Given the description of an element on the screen output the (x, y) to click on. 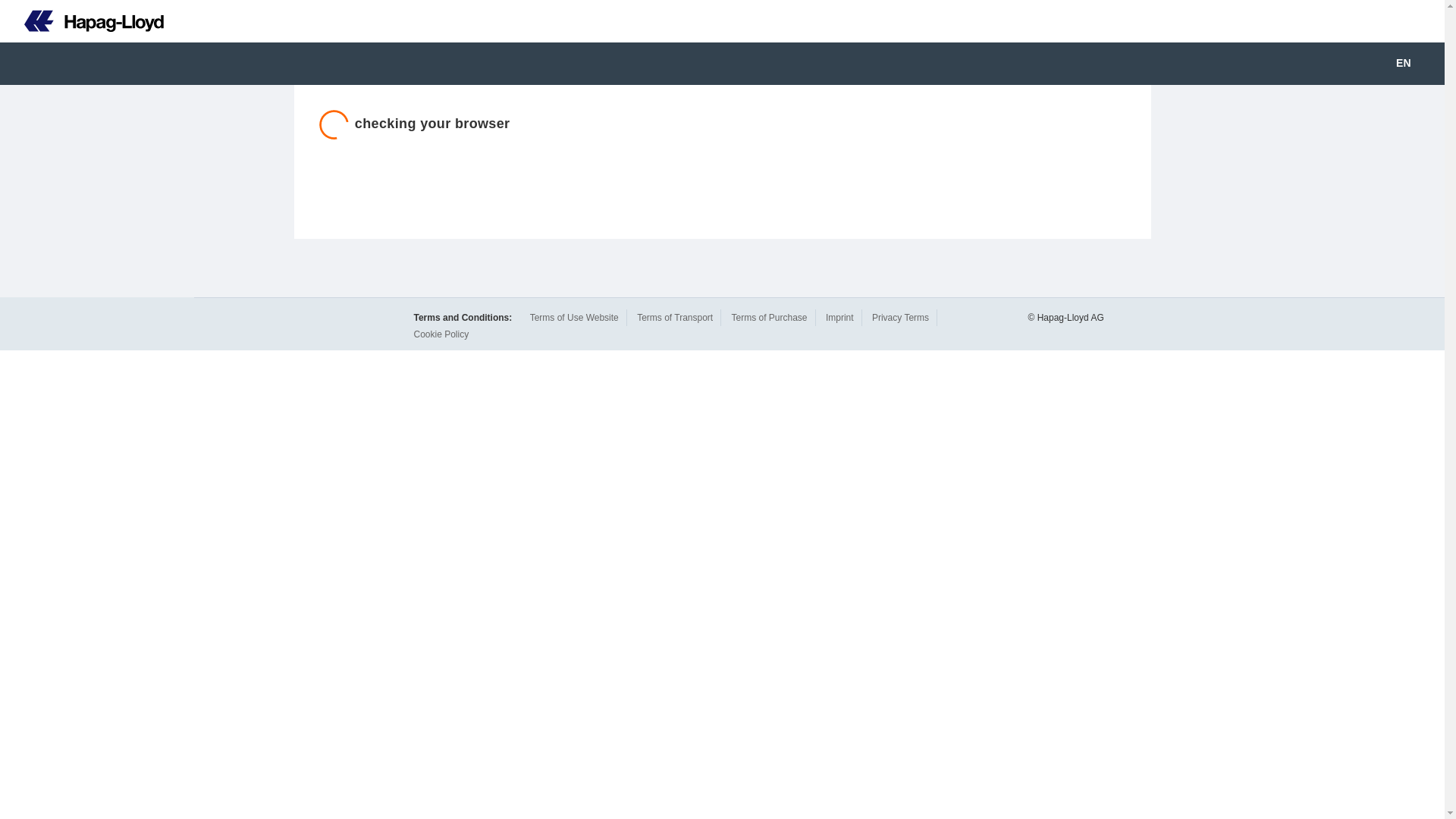
Cookie Policy (440, 334)
Terms of Purchase (768, 317)
Terms of Transport (675, 317)
Hapag-Lloyd Logo (93, 21)
Privacy Terms (900, 317)
Imprint (839, 317)
EN (1414, 63)
Hapag-Lloyd Logo (81, 21)
Terms of Use Website (573, 317)
